Given the description of an element on the screen output the (x, y) to click on. 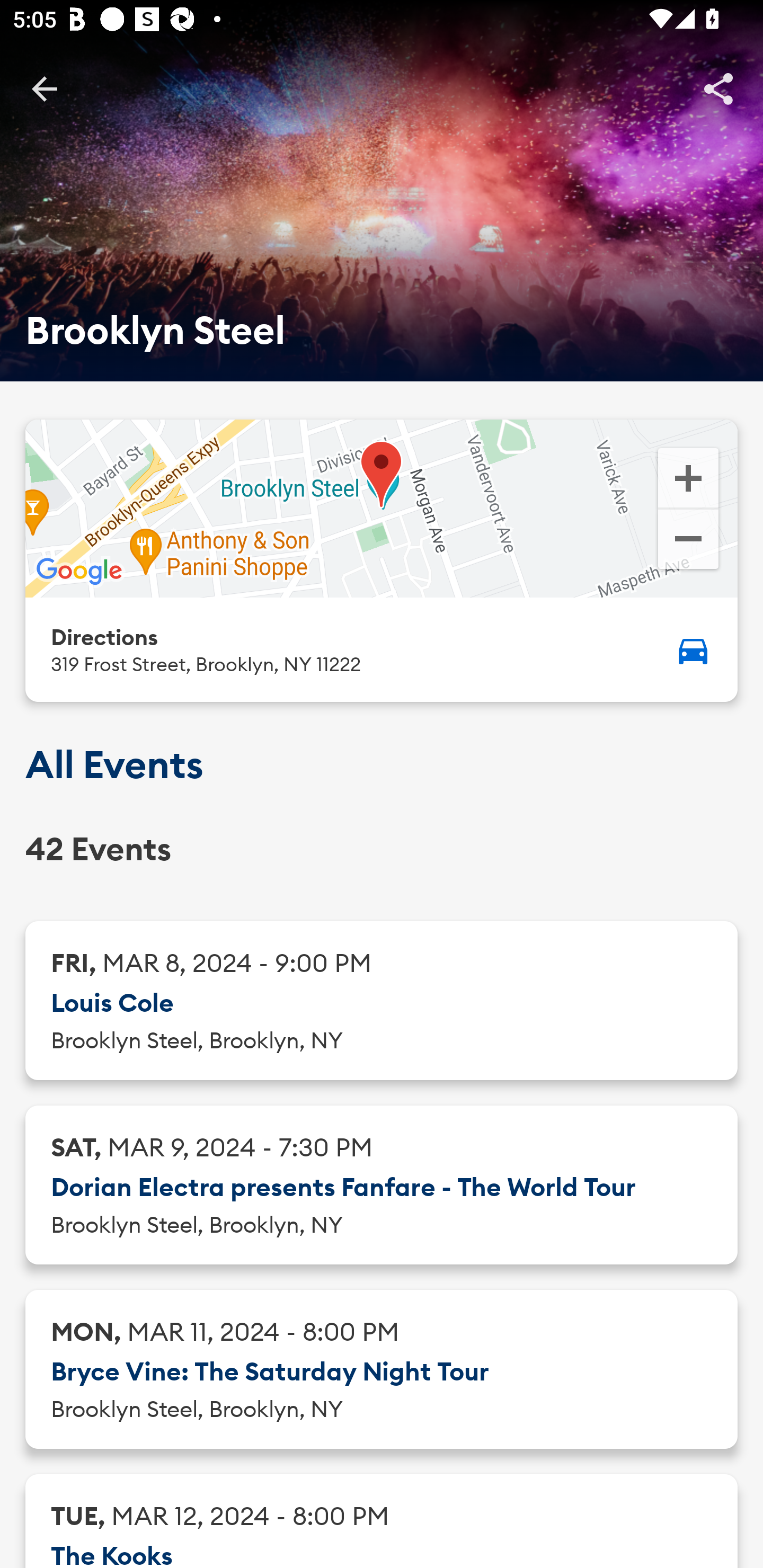
BackButton (44, 88)
Share (718, 88)
Google Map Brooklyn Steel.  Zoom in Zoom out (381, 508)
Zoom in (687, 476)
Zoom out (687, 540)
Directions 319 Frost Street, Brooklyn, NY 11222 (381, 649)
TUE, MAR 12, 2024 - 8:00 PM The Kooks (381, 1520)
